Given the description of an element on the screen output the (x, y) to click on. 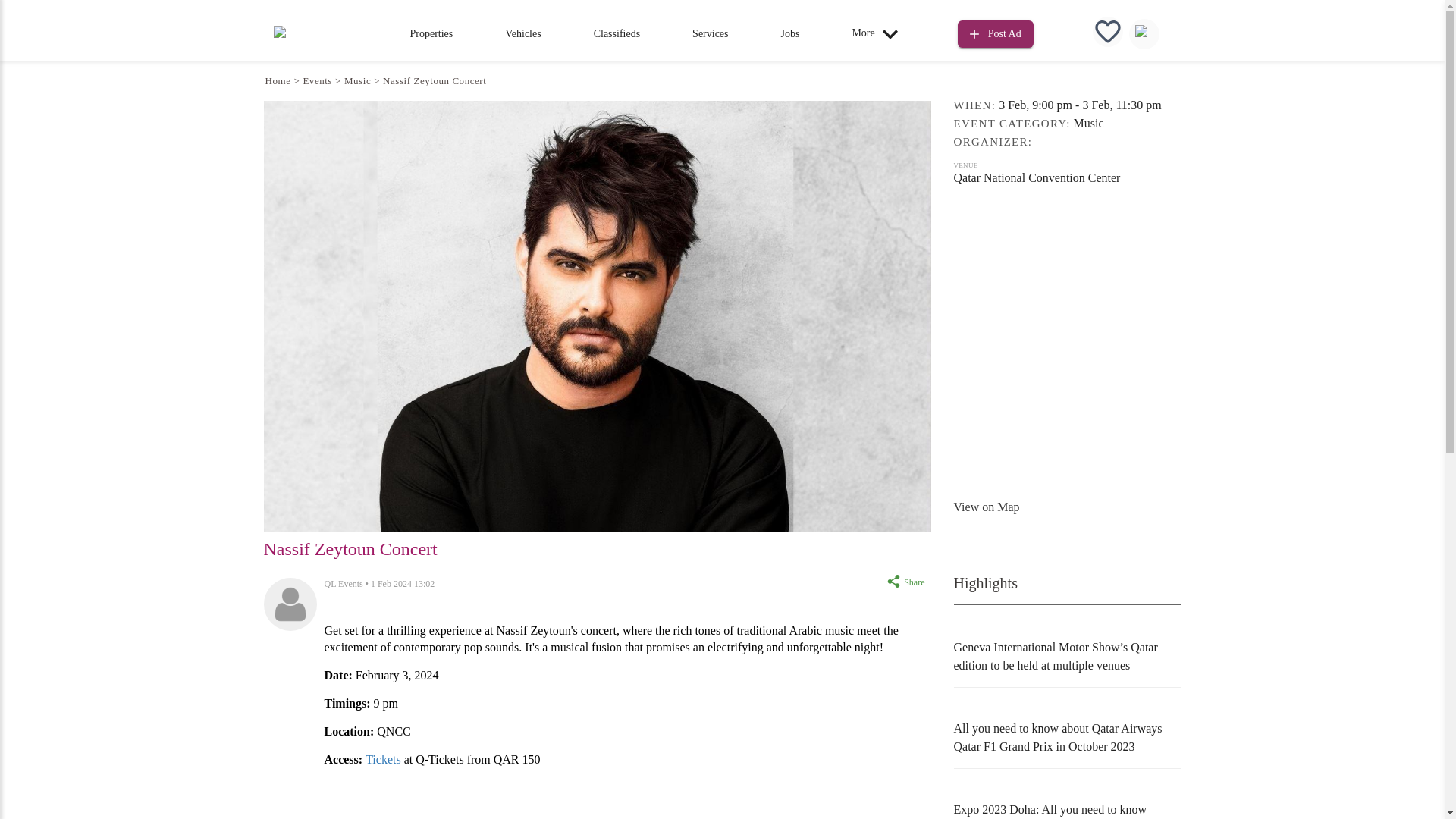
Post Ad (995, 34)
Post Ad (995, 32)
View user profile. (343, 583)
Classifieds (617, 33)
More (877, 33)
